Given the description of an element on the screen output the (x, y) to click on. 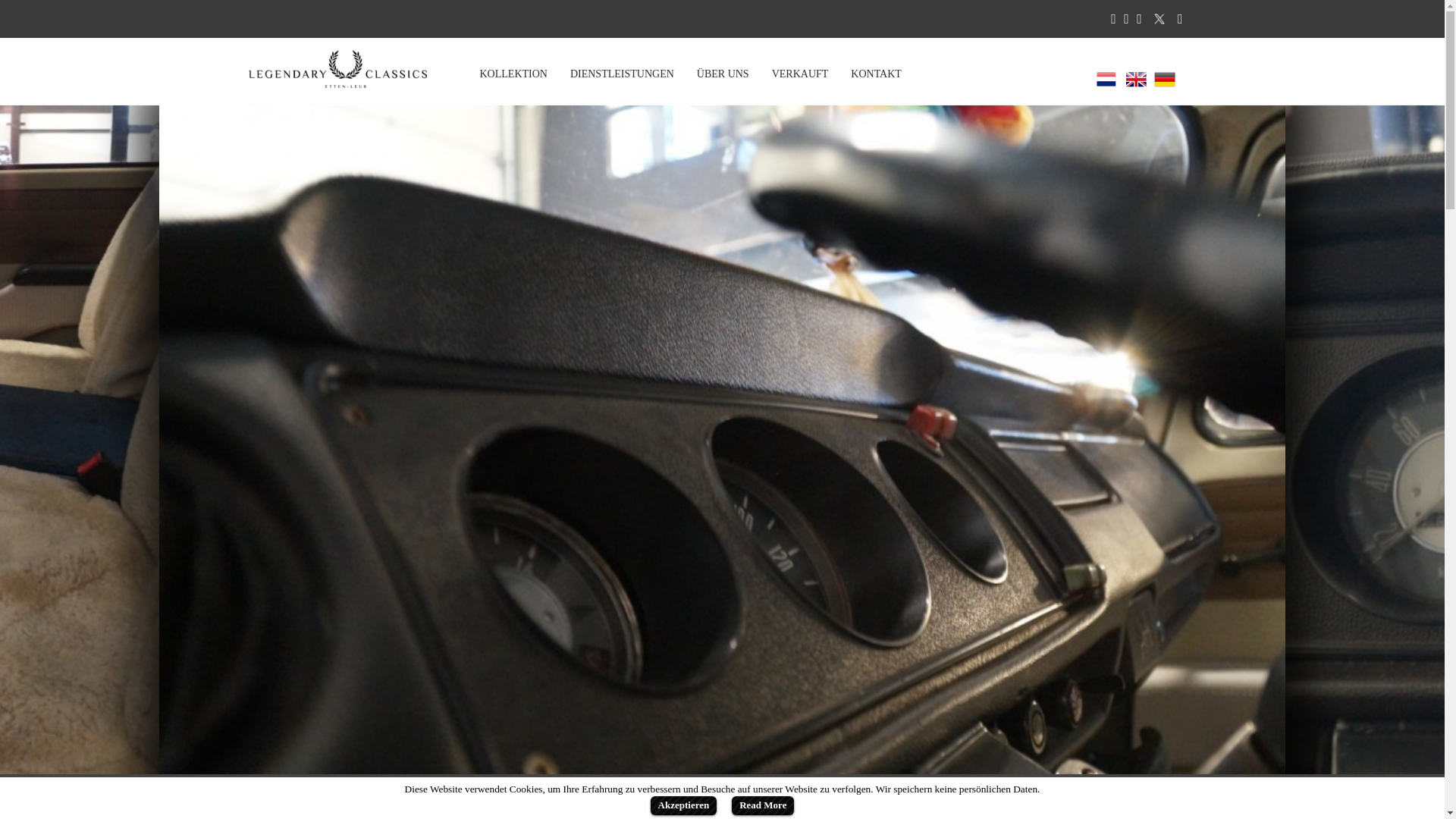
Dutch (1106, 78)
German (1164, 78)
KOLLEKTION (513, 74)
DIENSTLEISTUNGEN (622, 74)
English (1136, 78)
